Given the description of an element on the screen output the (x, y) to click on. 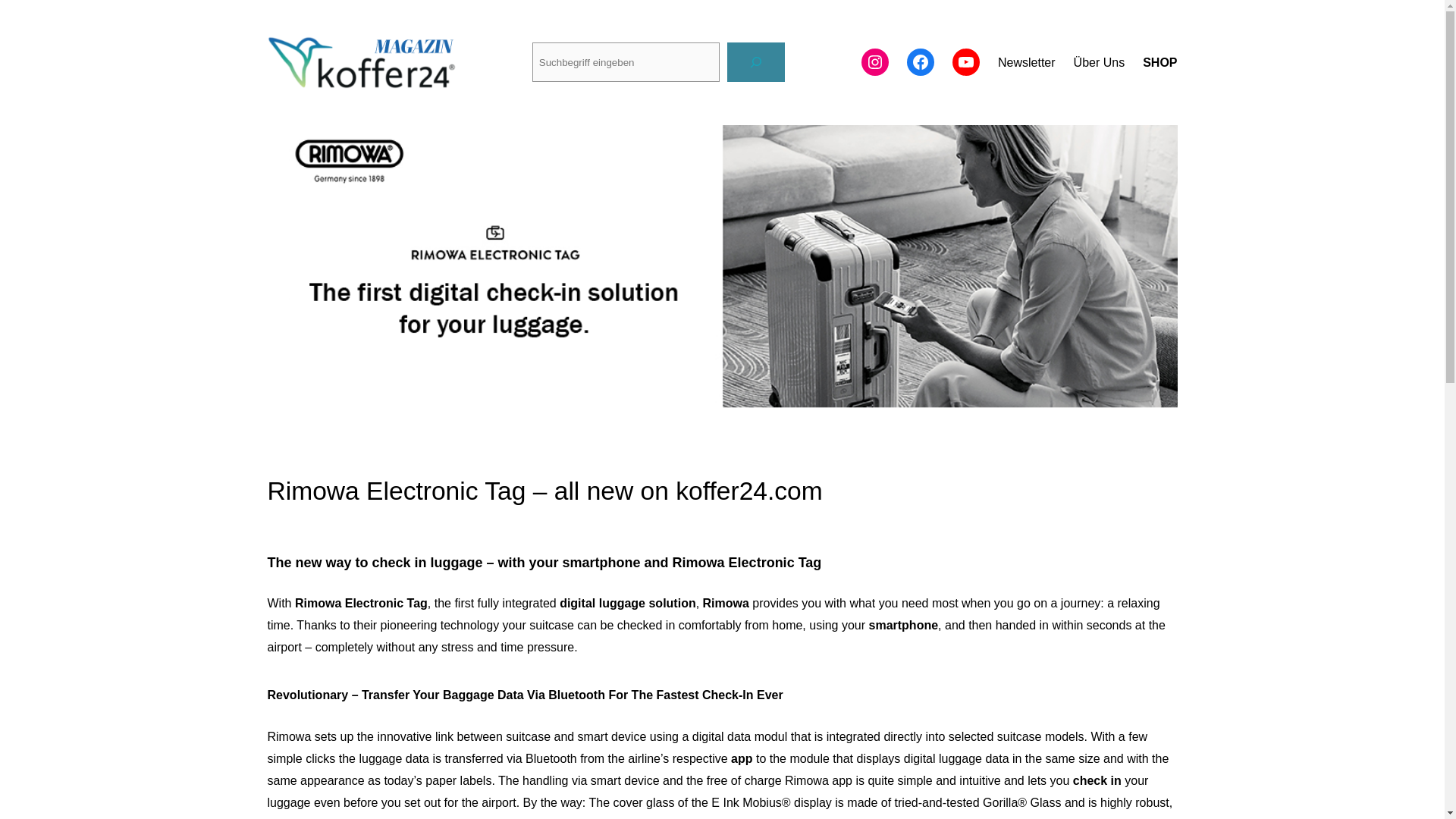
Newsletter (1026, 62)
SHOP (1159, 62)
Facebook (920, 62)
YouTube (965, 62)
Instagram (874, 62)
